Given the description of an element on the screen output the (x, y) to click on. 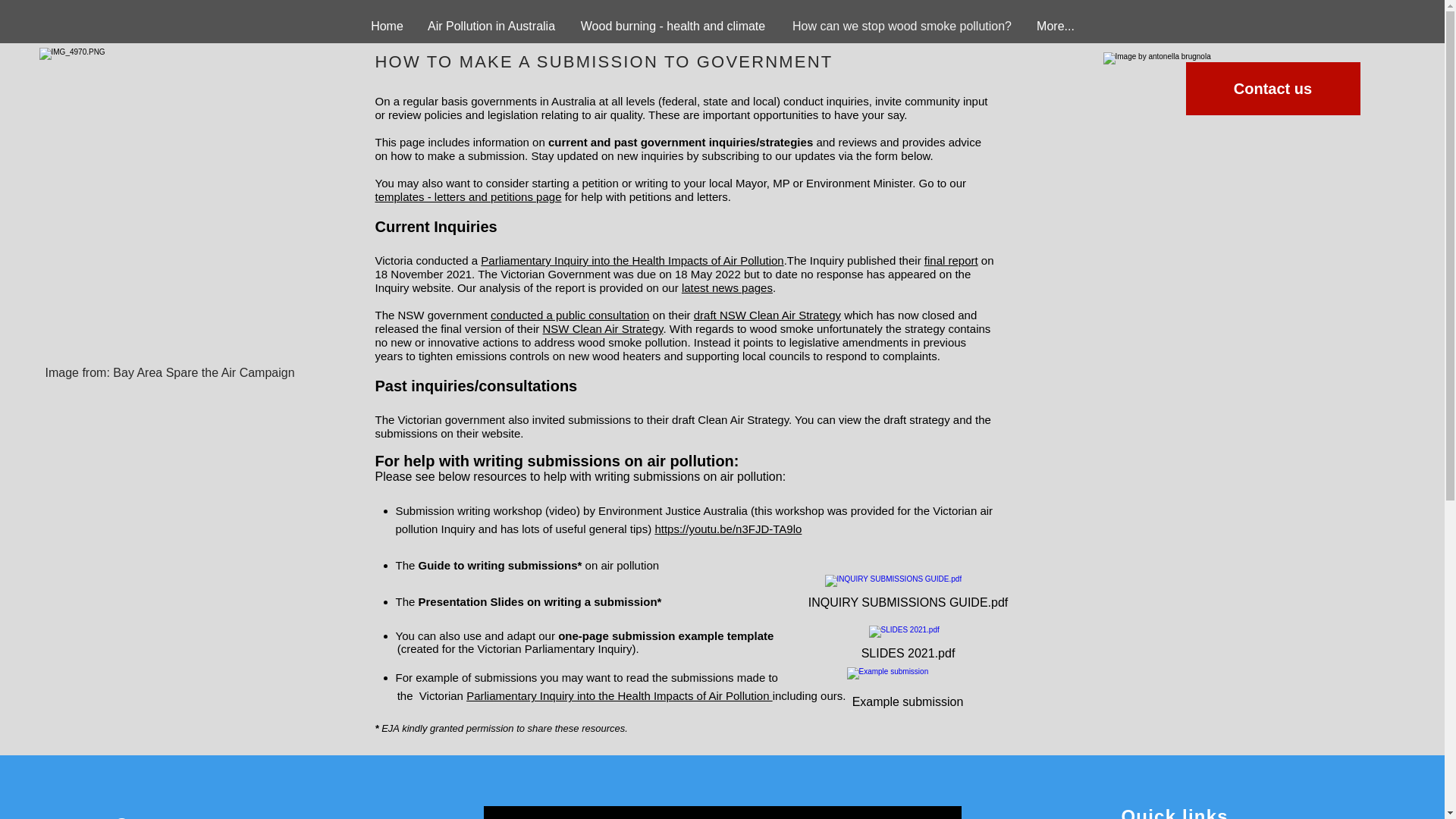
Example submission  (907, 691)
conducted a public consultation (569, 314)
Contact us (1272, 88)
Wood burning - health and climate (672, 26)
NSW Clean Air Strategy (601, 328)
Air Pollution in Australia (490, 26)
final report (951, 259)
Example submission (907, 691)
INQUIRY SUBMISSIONS GUIDE.pdf (907, 595)
draft NSW Clean Air Strategy (767, 314)
templates - letters and petitions page (467, 196)
latest news pages (727, 287)
SLIDES 2021.pdf (907, 646)
